Given the description of an element on the screen output the (x, y) to click on. 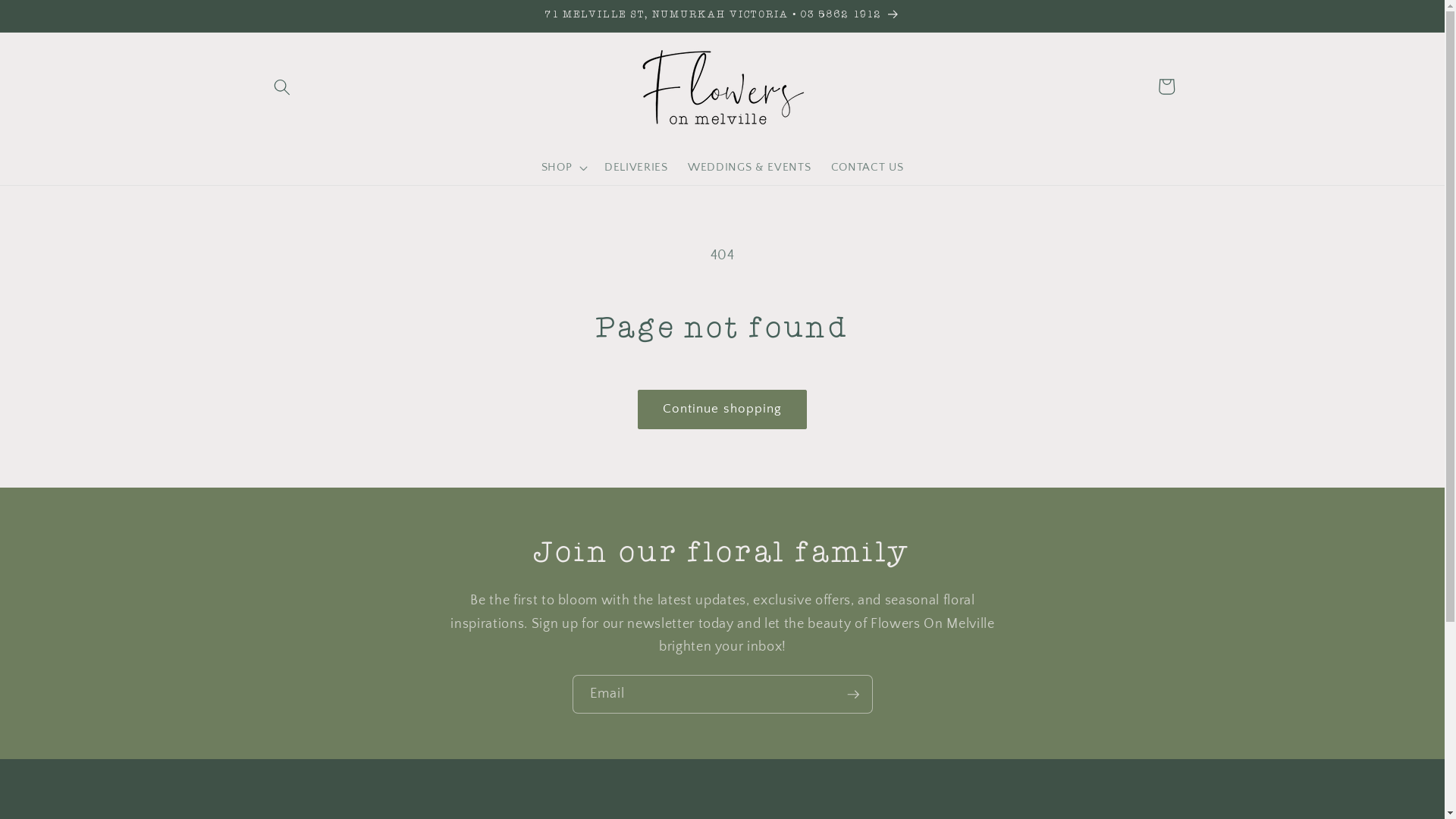
WEDDINGS & EVENTS Element type: text (749, 167)
Continue shopping Element type: text (722, 409)
Cart Element type: text (1166, 86)
DELIVERIES Element type: text (635, 167)
CONTACT US Element type: text (867, 167)
